Given the description of an element on the screen output the (x, y) to click on. 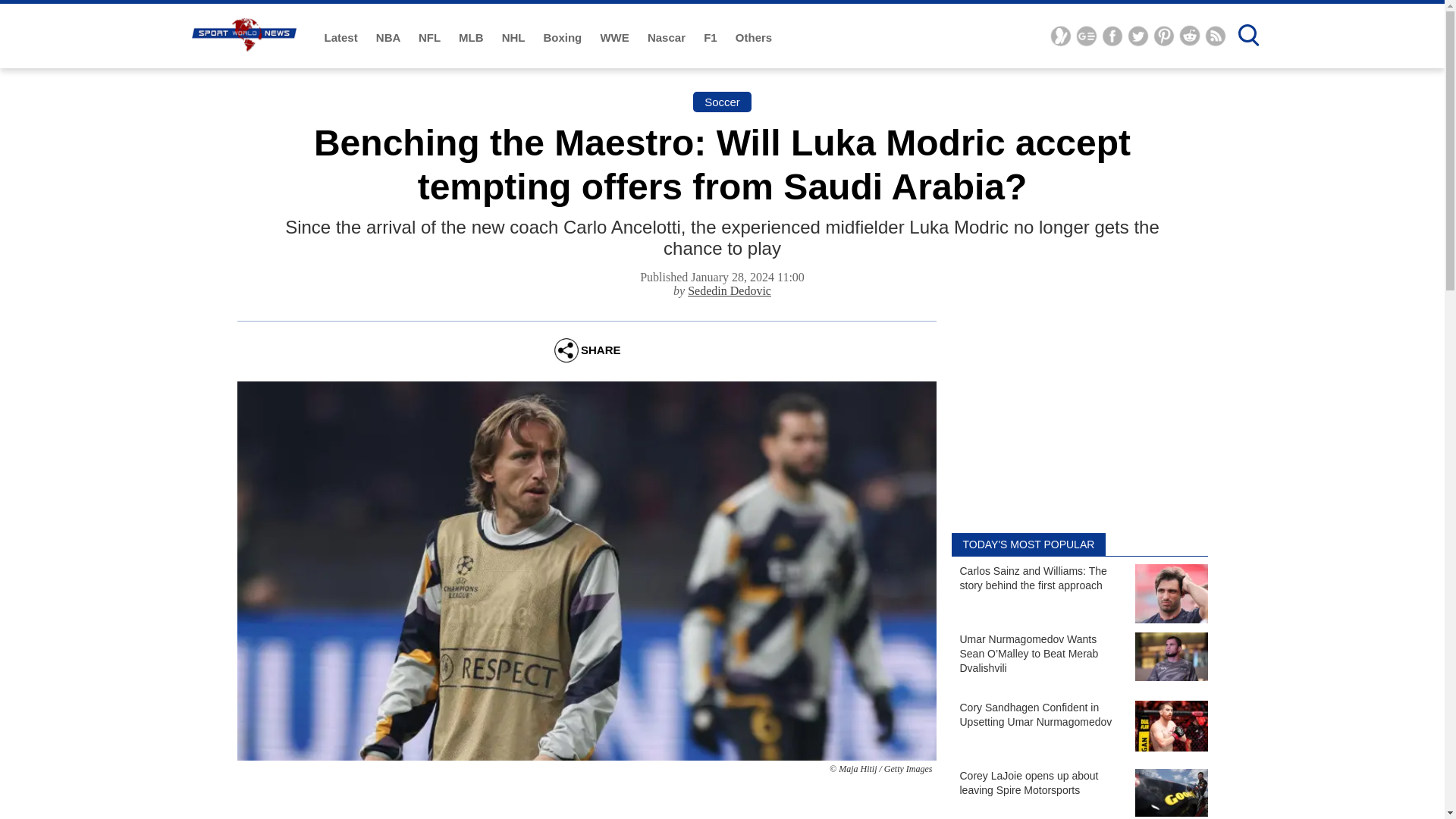
NHL (515, 37)
MLB (472, 37)
NBA (389, 37)
Nascar (667, 37)
NFL (431, 37)
Others (753, 37)
Boxing (564, 37)
WWE (615, 37)
Latest (342, 37)
F1 (711, 37)
